Given the description of an element on the screen output the (x, y) to click on. 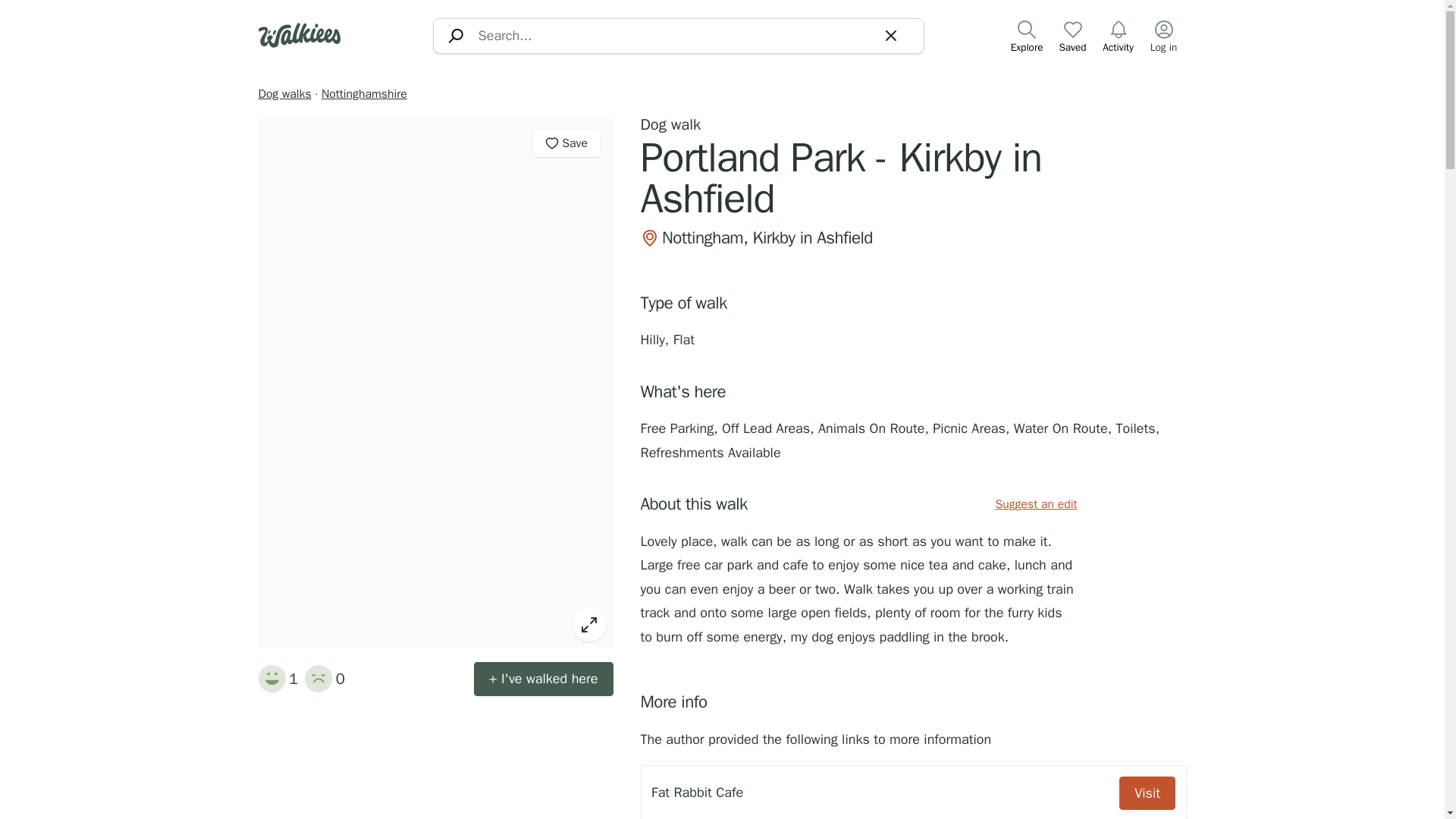
Walkiees logo (298, 35)
Nottinghamshire (364, 93)
Suggest an edit (1036, 504)
Dog walks (284, 93)
Save (565, 143)
Visit (1146, 793)
Explore (1026, 36)
